Given the description of an element on the screen output the (x, y) to click on. 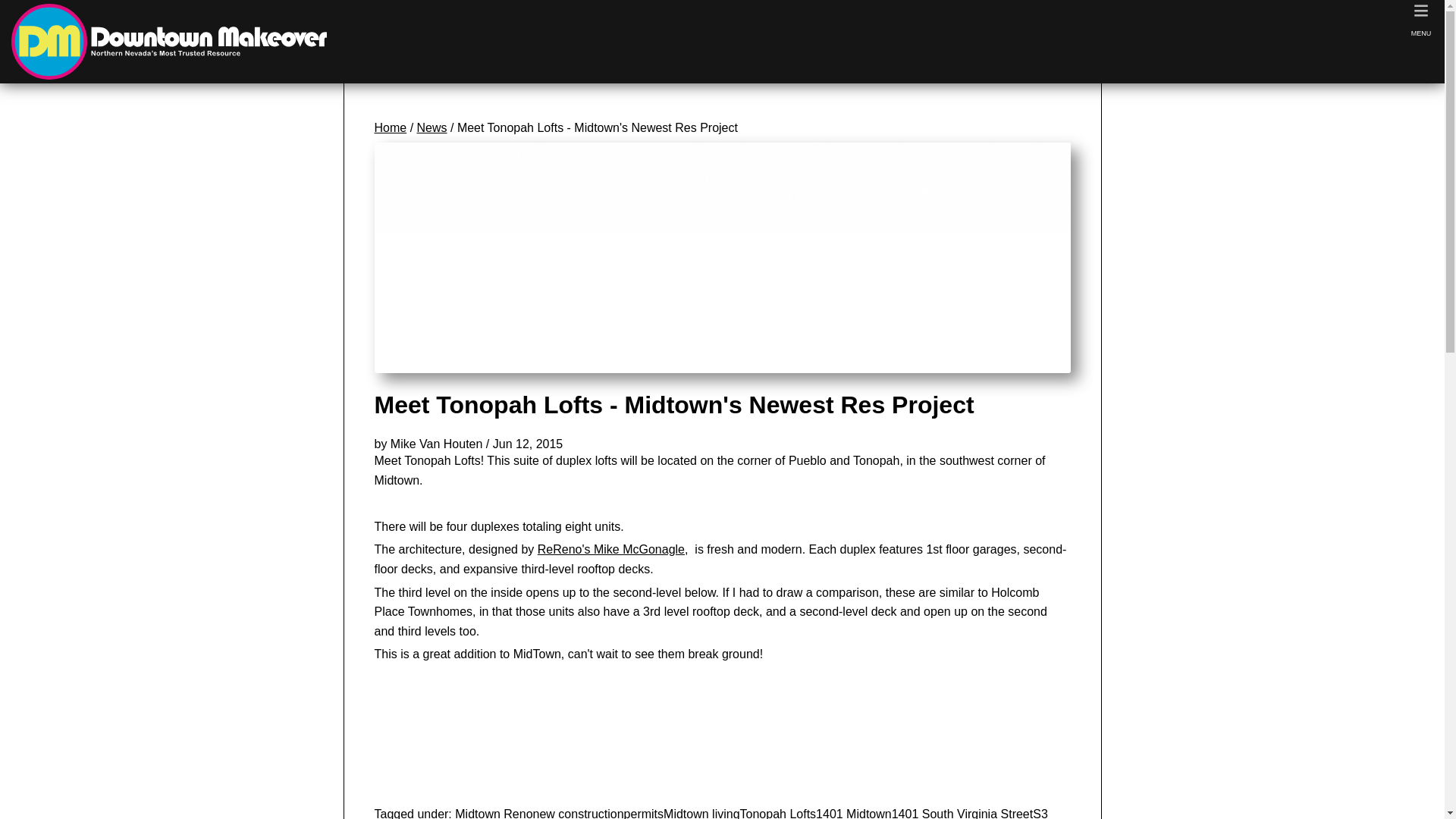
ReReno's Mike McGonagle (610, 549)
News (431, 127)
1401 Midtown (853, 813)
permits (643, 813)
Home (390, 127)
Tonopah Lofts (777, 813)
1401 South Virginia Street (962, 813)
S3 Development (711, 813)
Midtown living (701, 813)
new construction (578, 813)
